Given the description of an element on the screen output the (x, y) to click on. 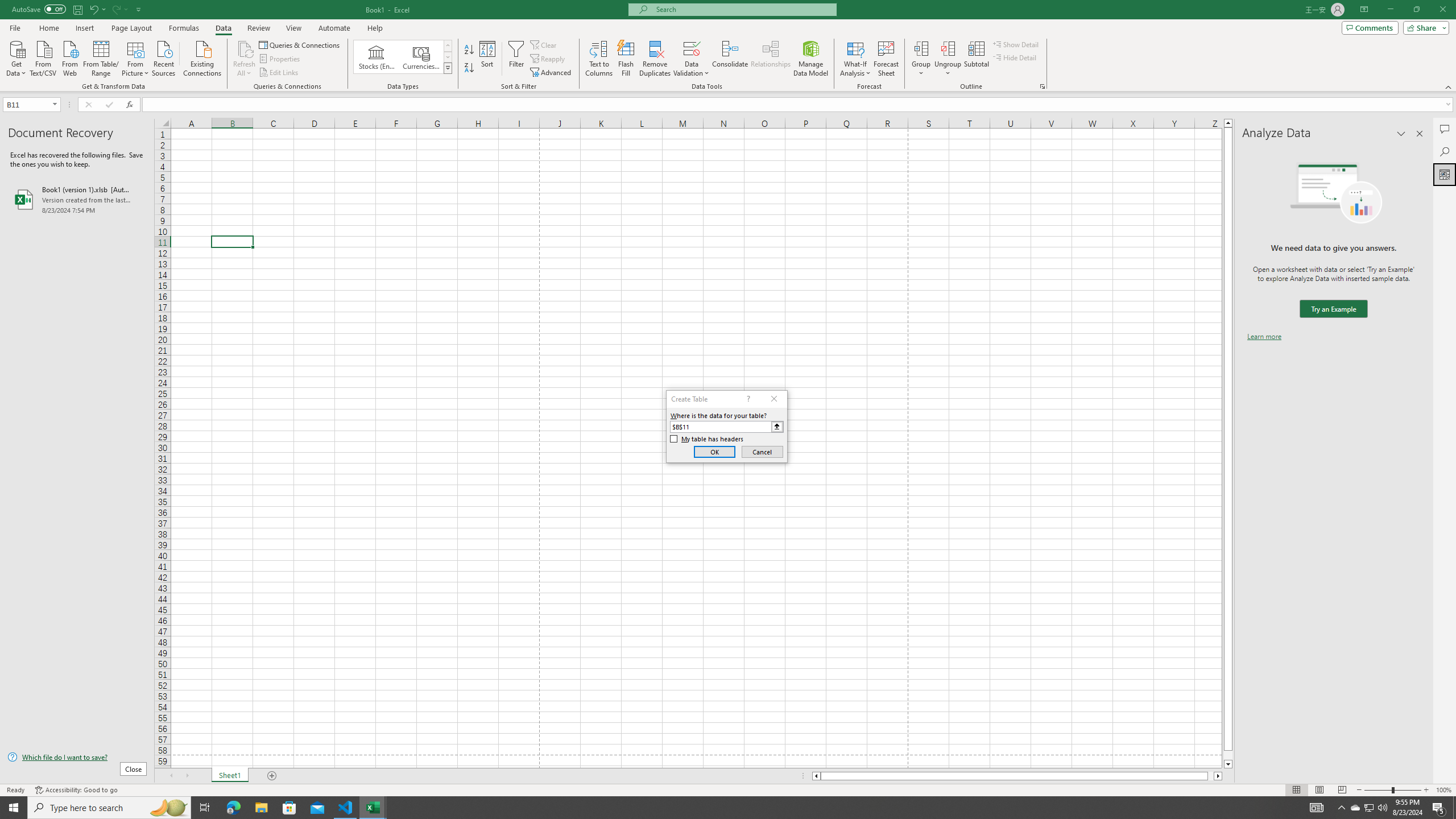
Learn more (1264, 336)
We need data to give you answers. Try an Example (1333, 308)
